Given the description of an element on the screen output the (x, y) to click on. 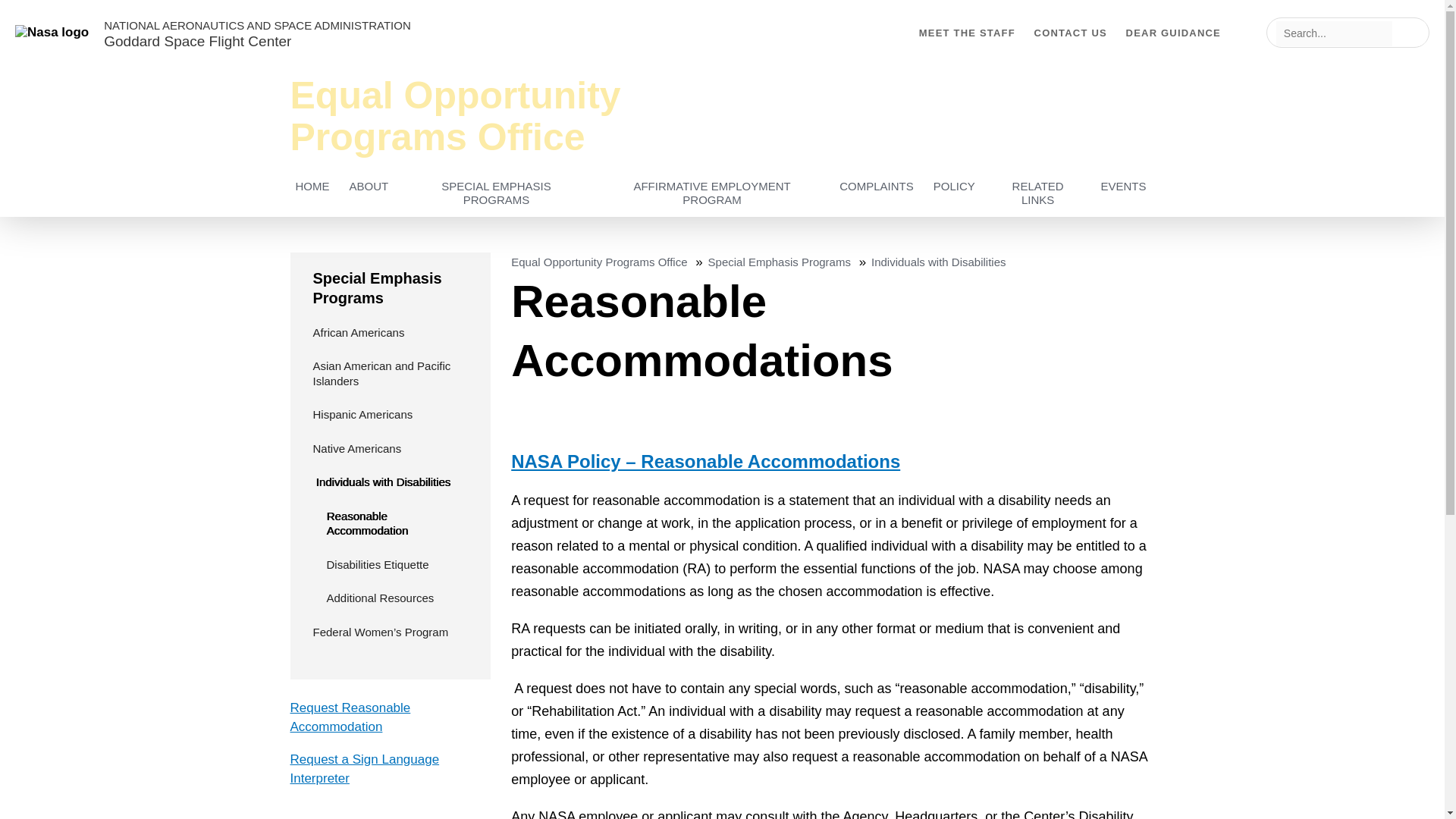
DEAR GUIDANCE (1173, 32)
African Americans (385, 332)
Enter the terms you wish to search for. (1333, 33)
COMPLAINTS (876, 186)
POLICY (954, 186)
RELATED LINKS (1038, 193)
ABOUT (368, 186)
Individuals with Disabilities (938, 262)
Request a Sign Language Interpreter (364, 769)
